Given the description of an element on the screen output the (x, y) to click on. 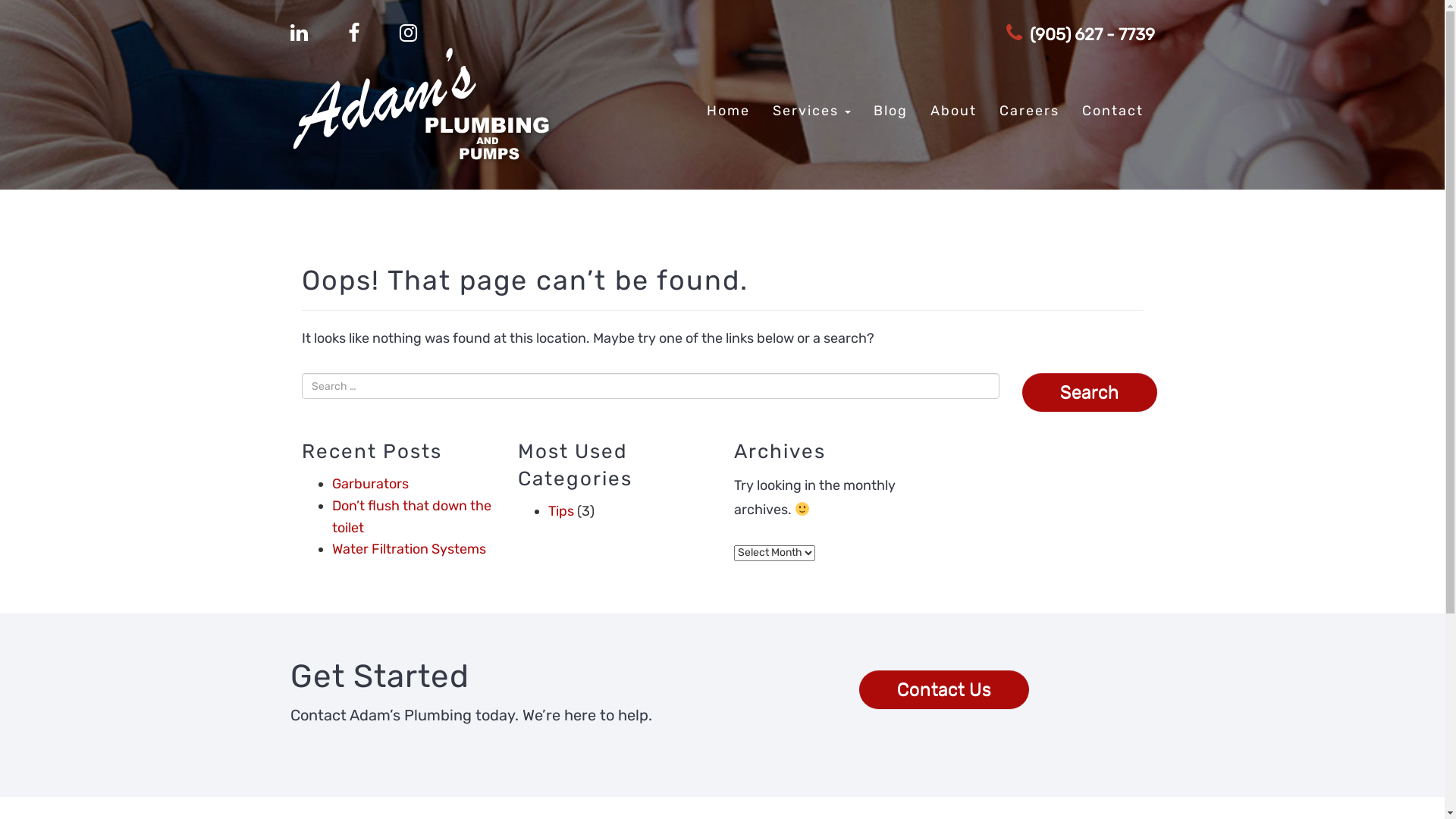
(905) 627 - 7739 Element type: text (1079, 34)
Garburators Element type: text (370, 483)
Contact Element type: text (1112, 110)
Contact Us Element type: text (944, 675)
Water Filtration Systems Element type: text (409, 548)
Services Element type: text (811, 110)
Careers Element type: text (1028, 110)
Search Element type: text (1089, 392)
Blog Element type: text (889, 110)
Home Element type: text (727, 110)
Contact Us Element type: text (944, 689)
About Element type: text (953, 110)
Tips Element type: text (560, 510)
